Given the description of an element on the screen output the (x, y) to click on. 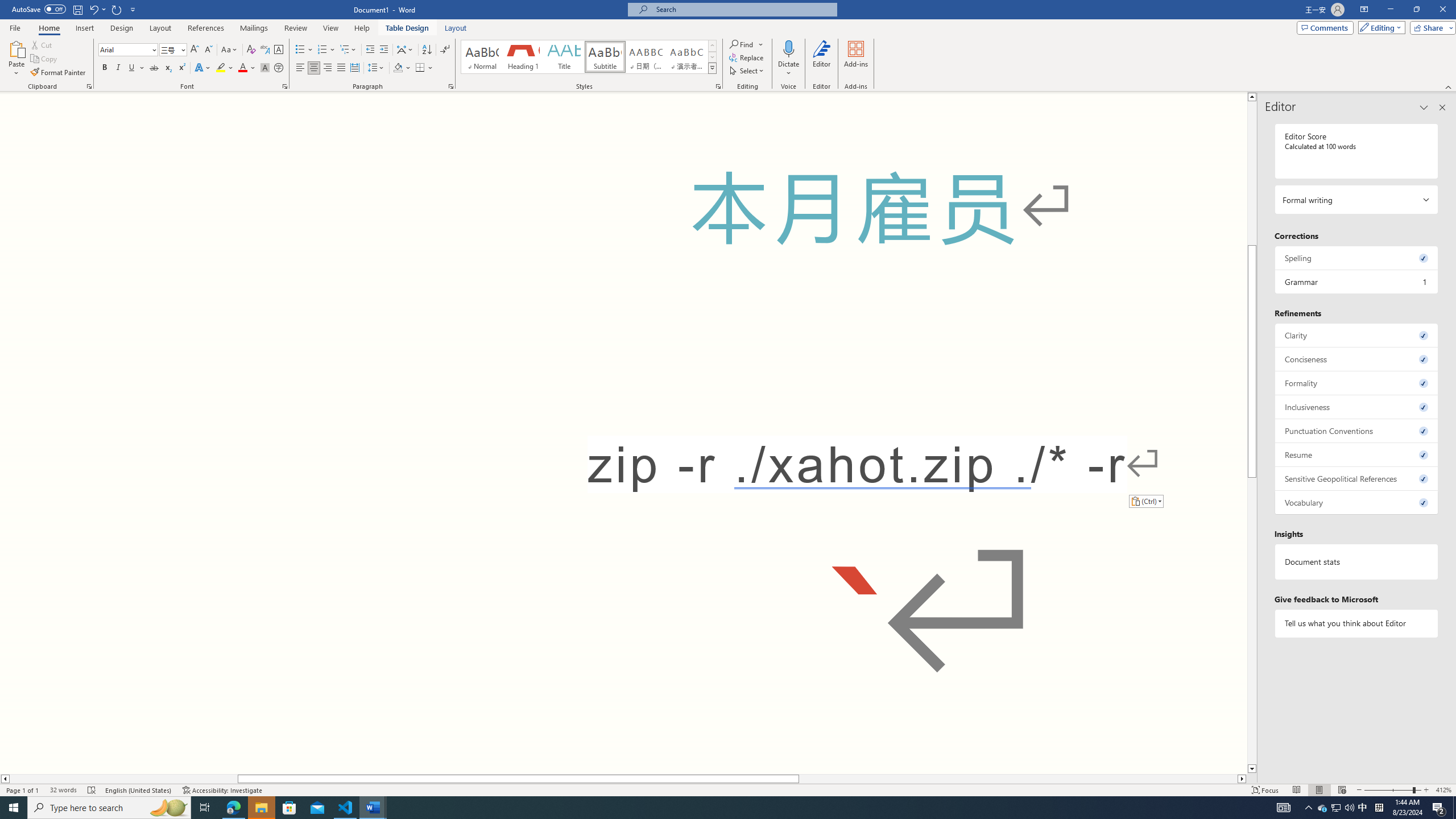
Page left (123, 778)
Row Down (711, 56)
Distributed (354, 67)
Accessibility Checker Accessibility: Investigate (222, 790)
Repeat Doc Close (117, 9)
Spelling, 0 issues. Press space or enter to review items. (1356, 257)
Decrease Indent (370, 49)
Line up (1251, 96)
